Given the description of an element on the screen output the (x, y) to click on. 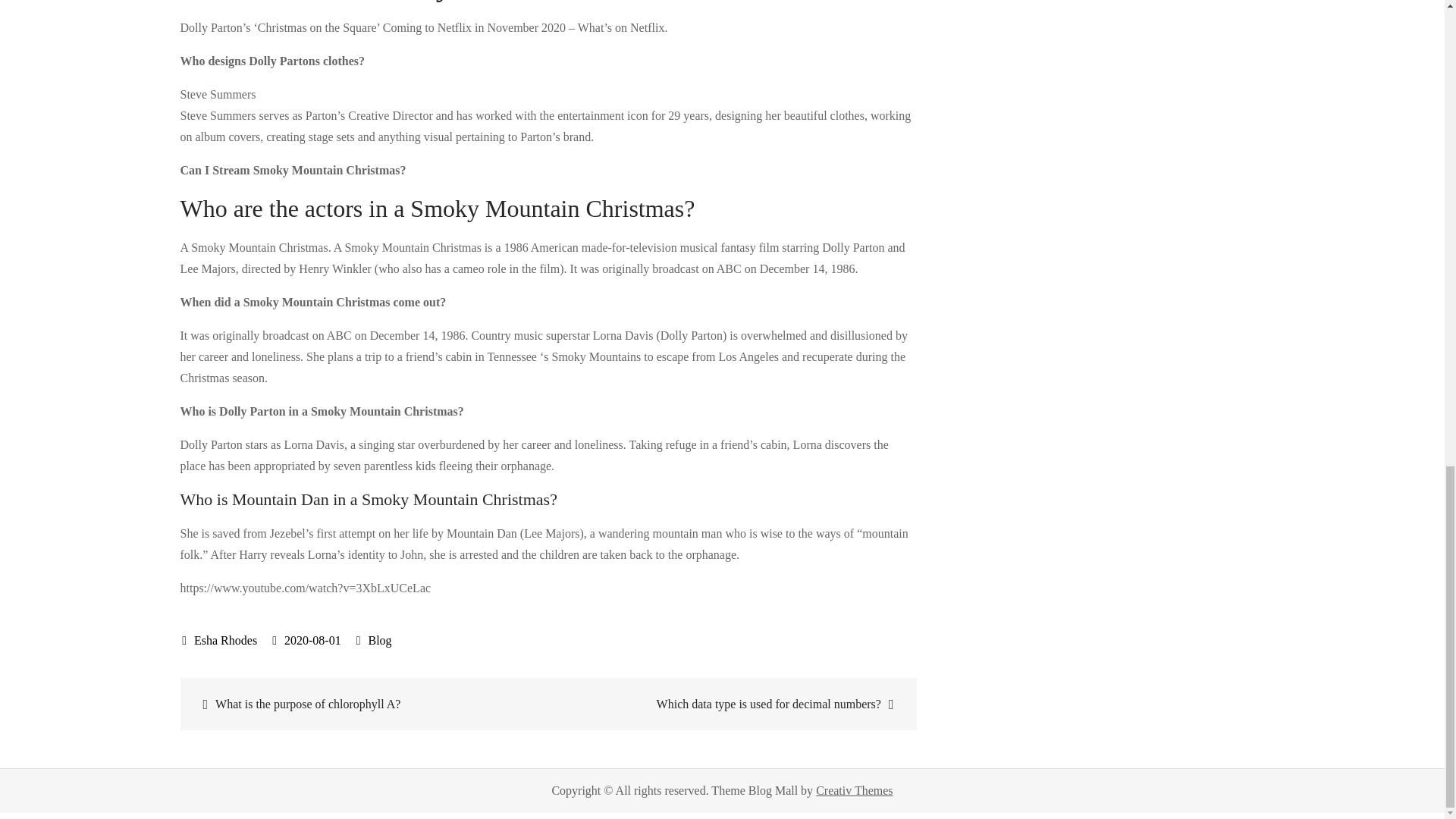
Blog (379, 640)
Esha Rhodes (219, 640)
Which data type is used for decimal numbers? (730, 703)
2020-08-01 (306, 640)
What is the purpose of chlorophyll A? (366, 703)
